Given the description of an element on the screen output the (x, y) to click on. 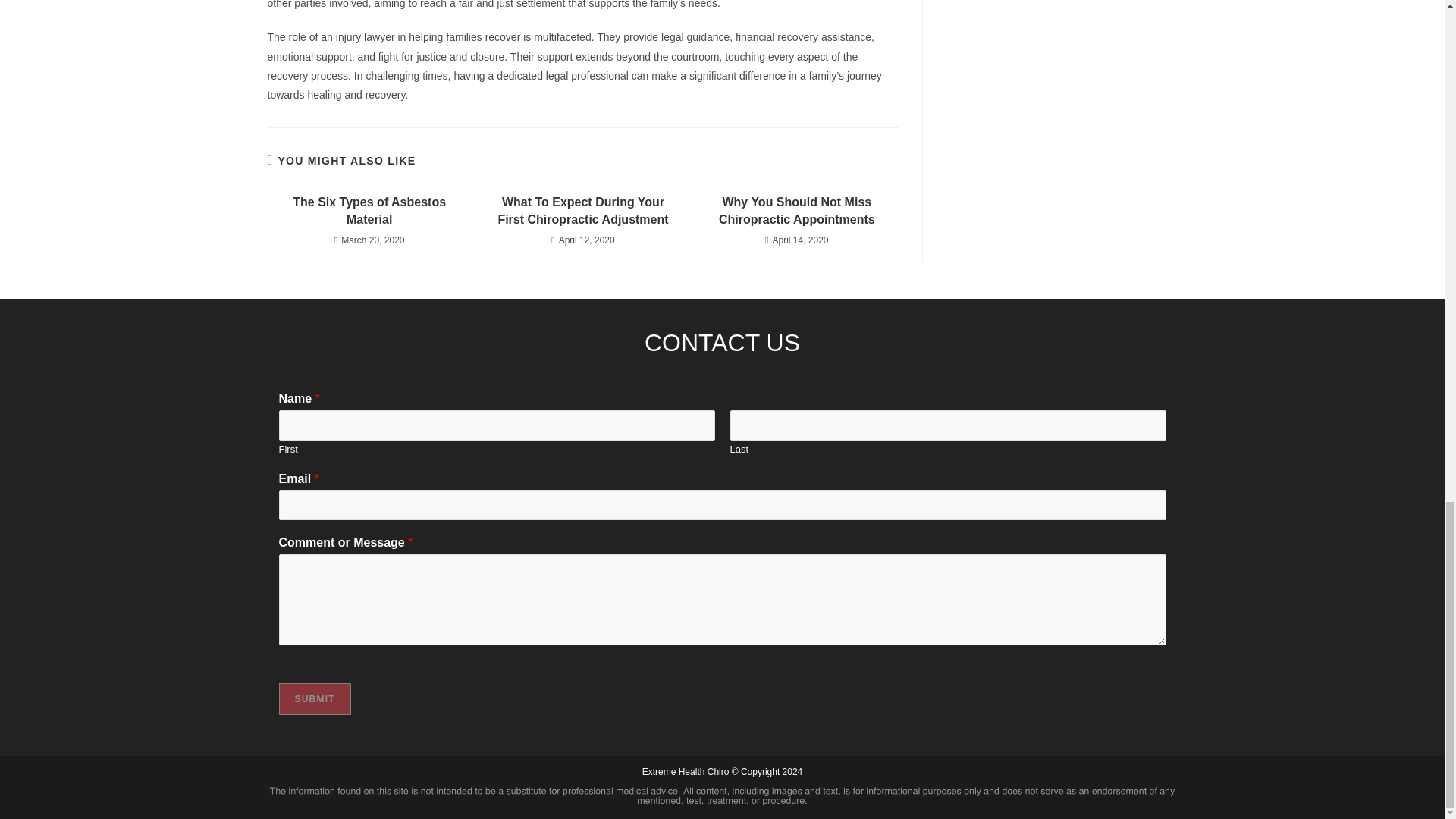
SUBMIT (314, 698)
What To Expect During Your First Chiropractic Adjustment (582, 211)
Why You Should Not Miss Chiropractic Appointments (796, 211)
The Six Types of Asbestos Material (368, 211)
